Given the description of an element on the screen output the (x, y) to click on. 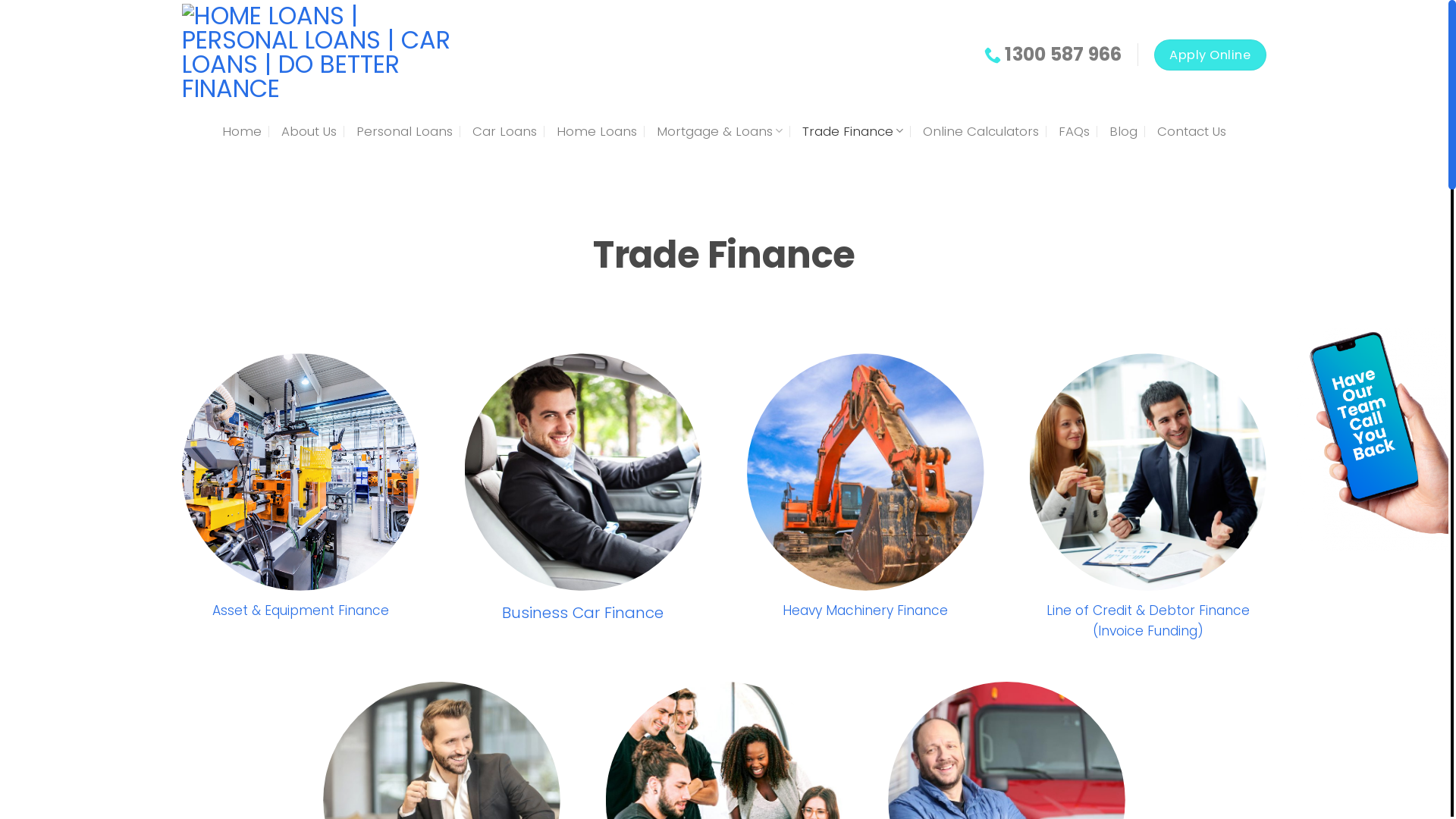
Heavy Machinery Finance Element type: text (864, 610)
Blog Element type: text (1123, 130)
1300 587 966 Element type: text (1053, 54)
FAQs Element type: text (1073, 130)
About Us Element type: text (308, 130)
Business Car Finance Element type: text (582, 613)
Mortgage & Loans Element type: text (719, 130)
Contact Us Element type: text (1191, 130)
Car Loans Element type: text (504, 130)
Online Calculators Element type: text (980, 130)
Trade Finance Element type: text (852, 130)
Asset & Equipment Finance Element type: text (300, 610)
Apply Online Element type: text (1210, 54)
Home Loans Element type: text (596, 130)
Home Element type: text (241, 130)
Line of Credit & Debtor Finance (Invoice Funding) Element type: text (1147, 620)
Personal Loans Element type: text (404, 130)
